Given the description of an element on the screen output the (x, y) to click on. 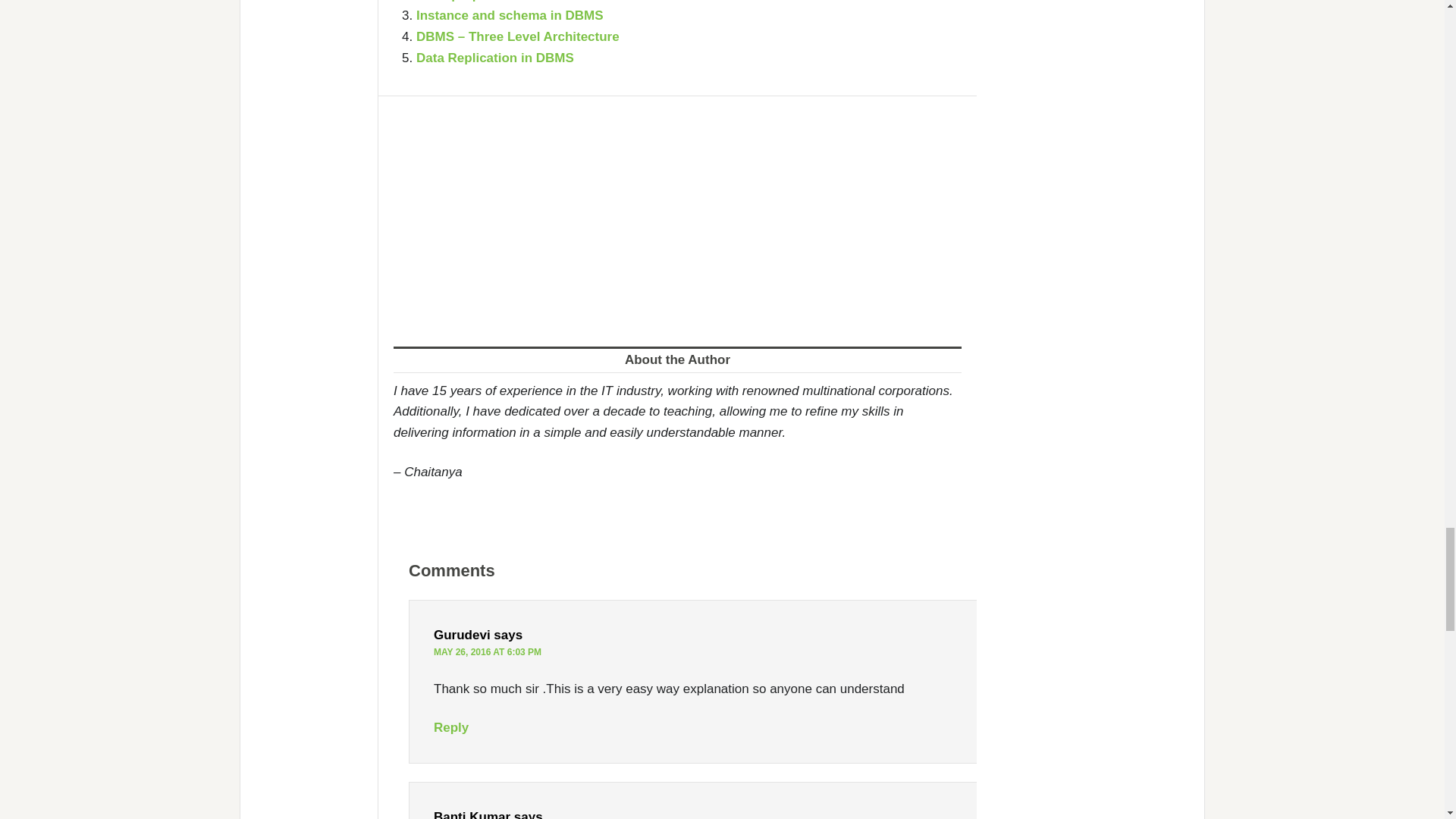
MAY 26, 2016 AT 6:03 PM (487, 652)
Instance and schema in DBMS (510, 15)
Data Replication in DBMS (494, 57)
Reply (450, 727)
Data Replication in DBMS (494, 57)
Instance and schema in DBMS (510, 15)
ACID properties in DBMS (493, 1)
ACID properties in DBMS (493, 1)
